Given the description of an element on the screen output the (x, y) to click on. 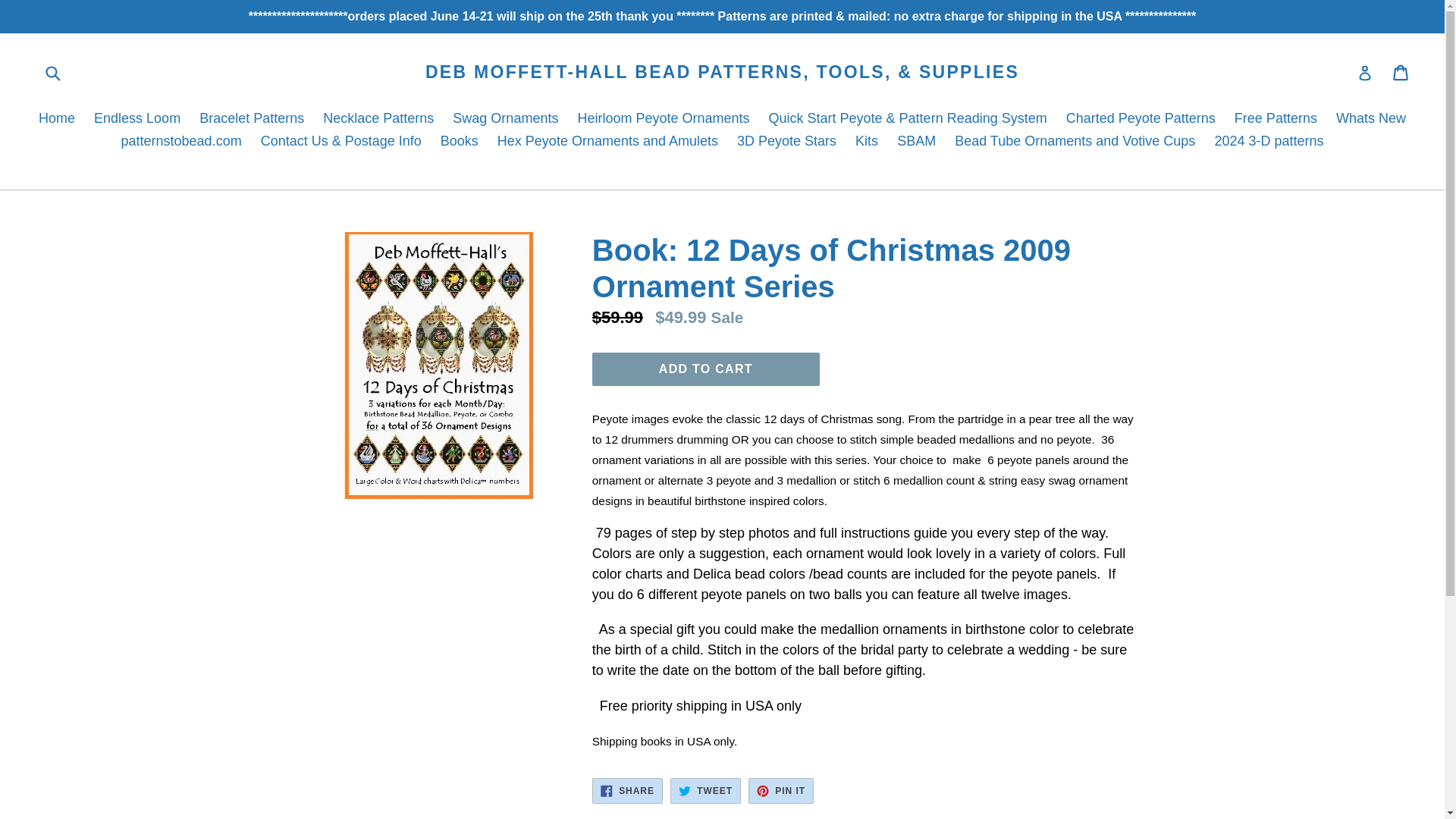
Whats New (1370, 119)
Free Patterns (1275, 119)
patternstobead.com (180, 142)
Necklace Patterns (378, 119)
Charted Peyote Patterns (1140, 119)
Share on Facebook (627, 790)
Heirloom Peyote Ornaments (663, 119)
Bracelet Patterns (251, 119)
Submit (52, 72)
Tweet on Twitter (705, 790)
Log in (1364, 72)
Swag Ornaments (1401, 72)
Pin on Pinterest (505, 119)
Home (780, 790)
